Given the description of an element on the screen output the (x, y) to click on. 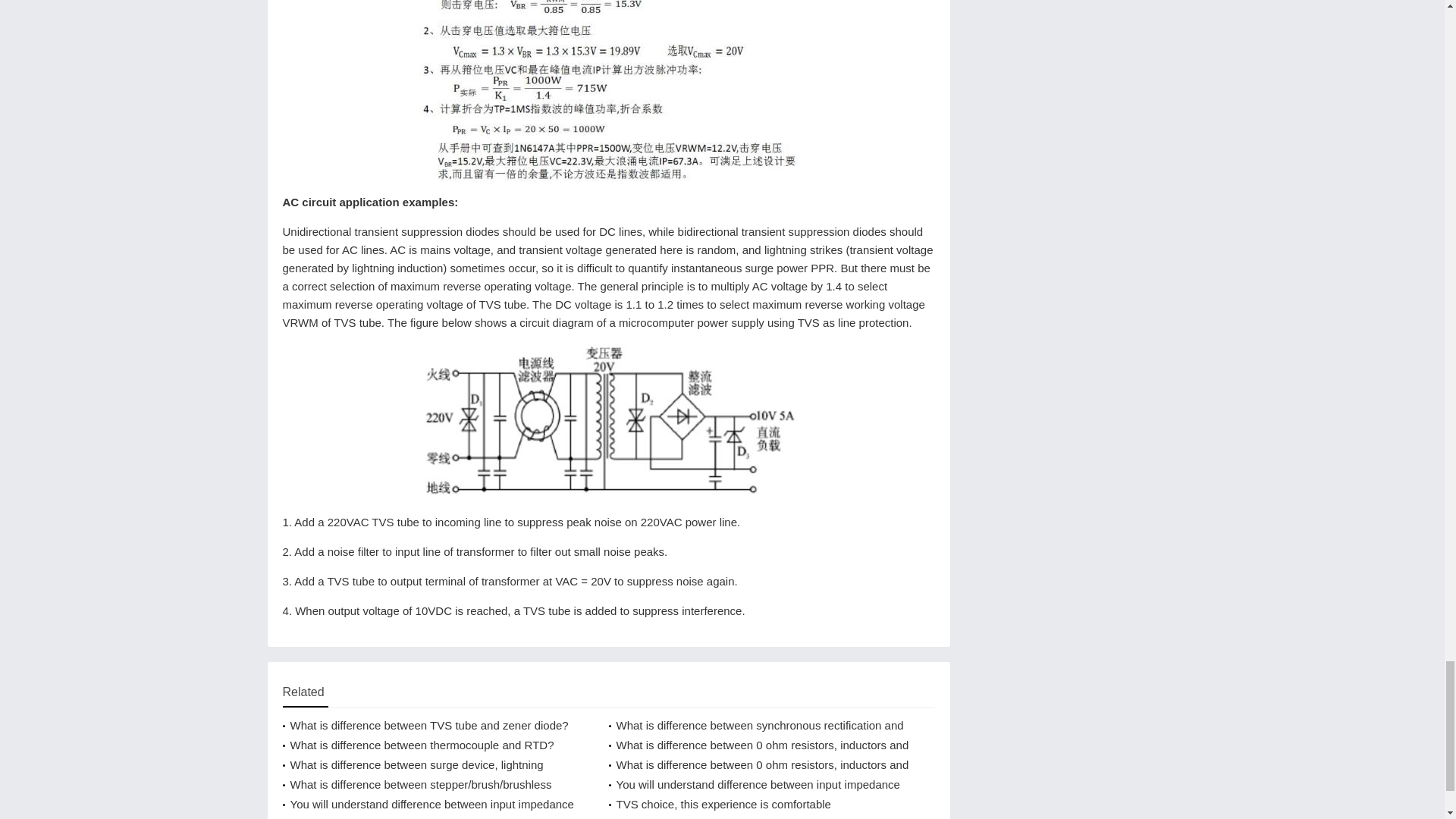
TVS choice, this experience is comfortable (759, 804)
